Given the description of an element on the screen output the (x, y) to click on. 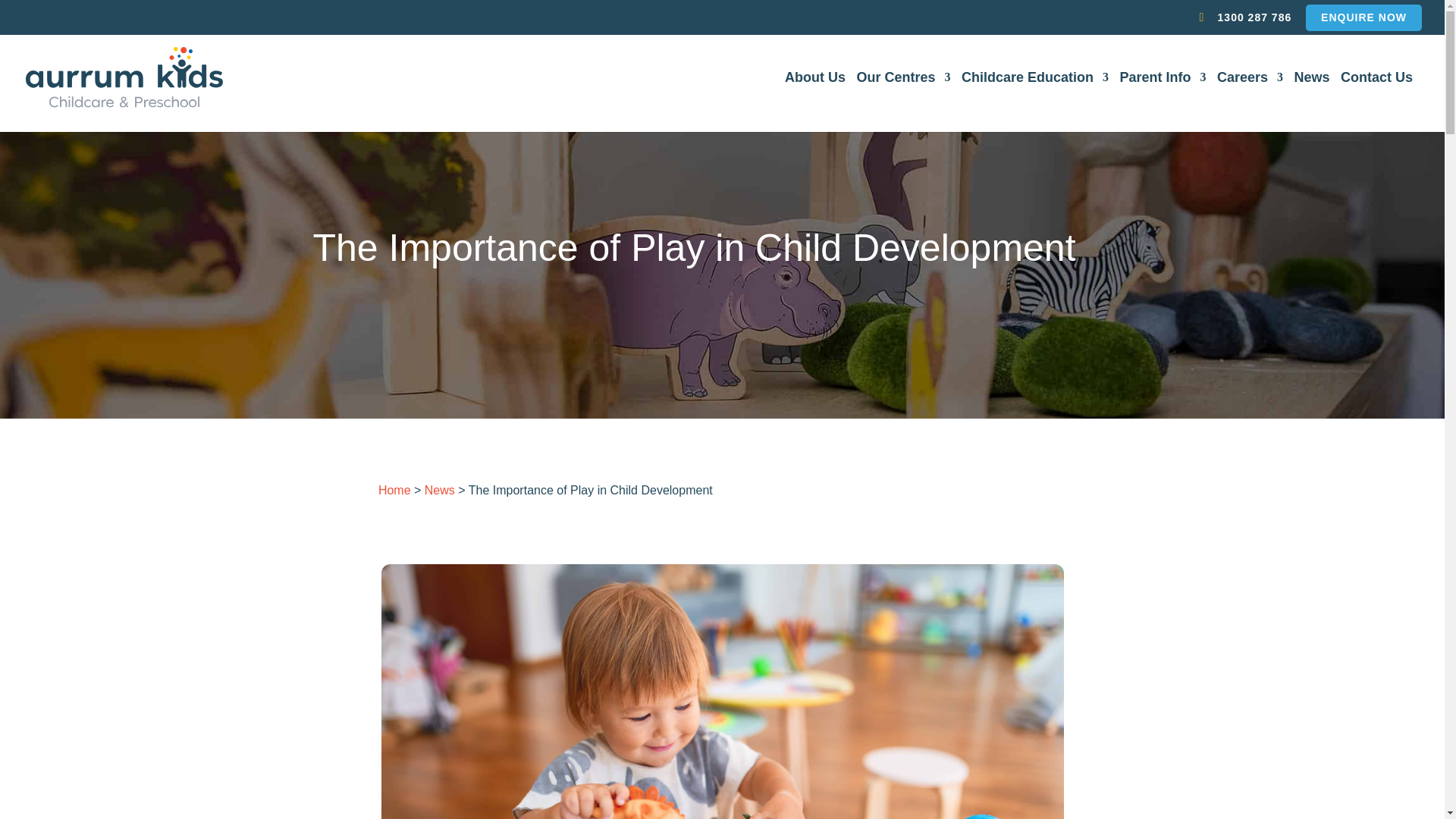
Contact Us (1380, 101)
Childcare Education (1038, 101)
Parent Info (1166, 101)
ENQUIRE NOW (1363, 21)
Home (394, 490)
1300 287 786 (1254, 21)
About Us (818, 101)
News (439, 490)
Careers (1253, 101)
